Given the description of an element on the screen output the (x, y) to click on. 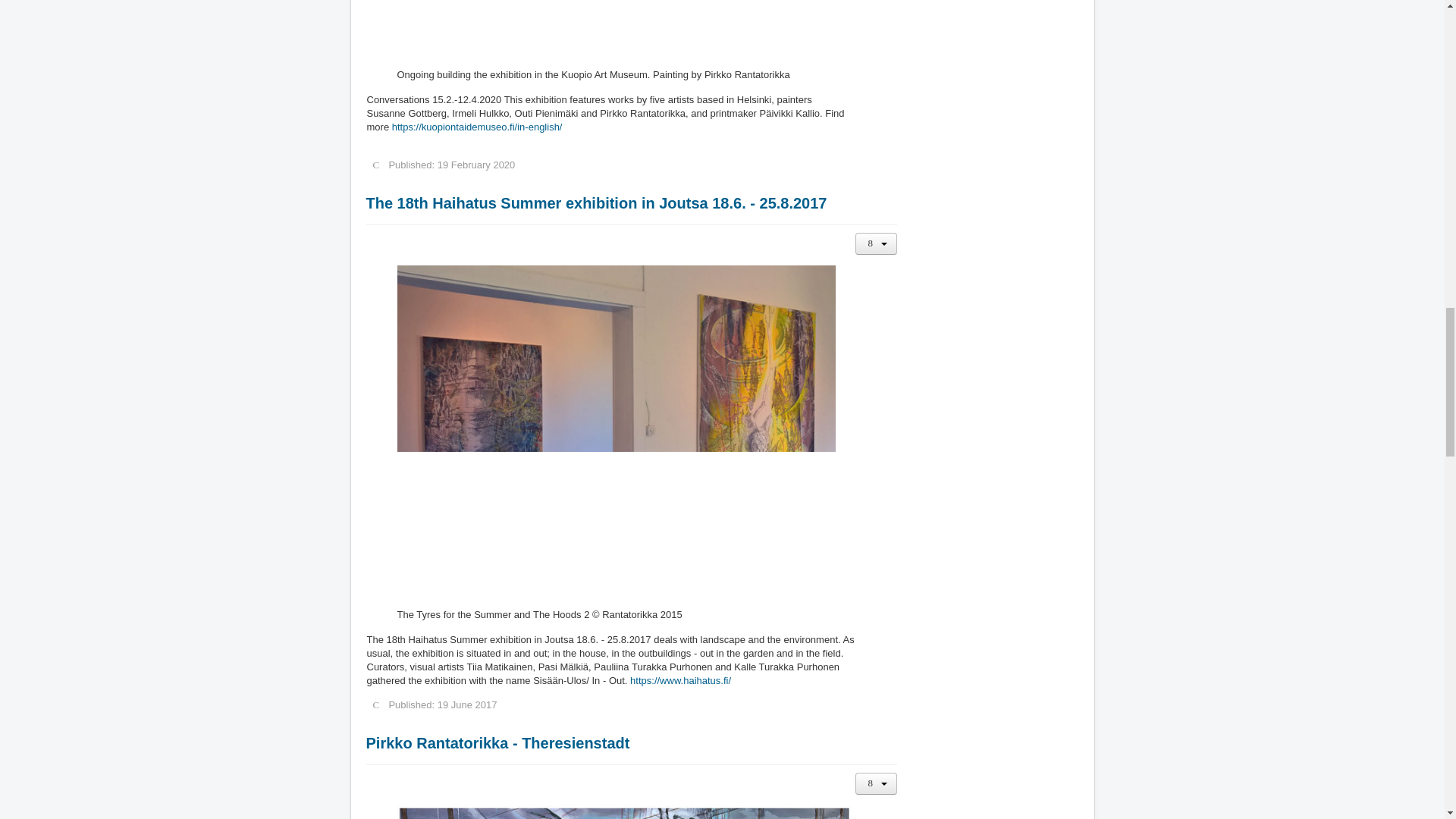
haihatus (680, 680)
kuopio (476, 126)
Pirkko Rantatorikka - Theresienstadt (496, 742)
